Given the description of an element on the screen output the (x, y) to click on. 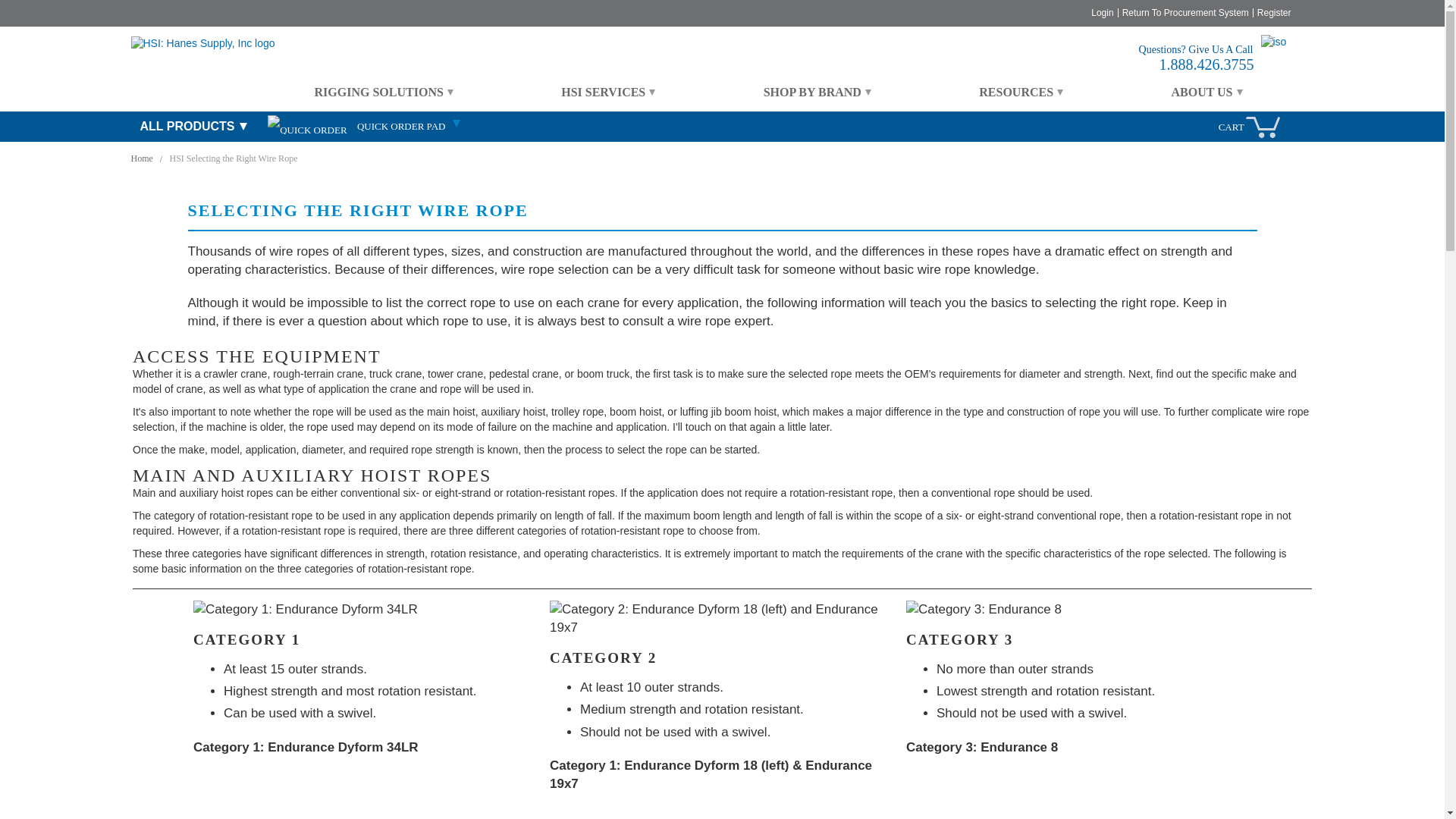
Login (1101, 12)
iso (1280, 55)
1.888.426.3755 (1205, 64)
Endurance Dyform 34LR (365, 609)
Category 3: Endurance 8 (1077, 609)
Register (1274, 12)
HSI: Hanes Supply, Inc logo (203, 43)
Return To Procurement System (1185, 12)
Go to Home Page (142, 158)
